Given the description of an element on the screen output the (x, y) to click on. 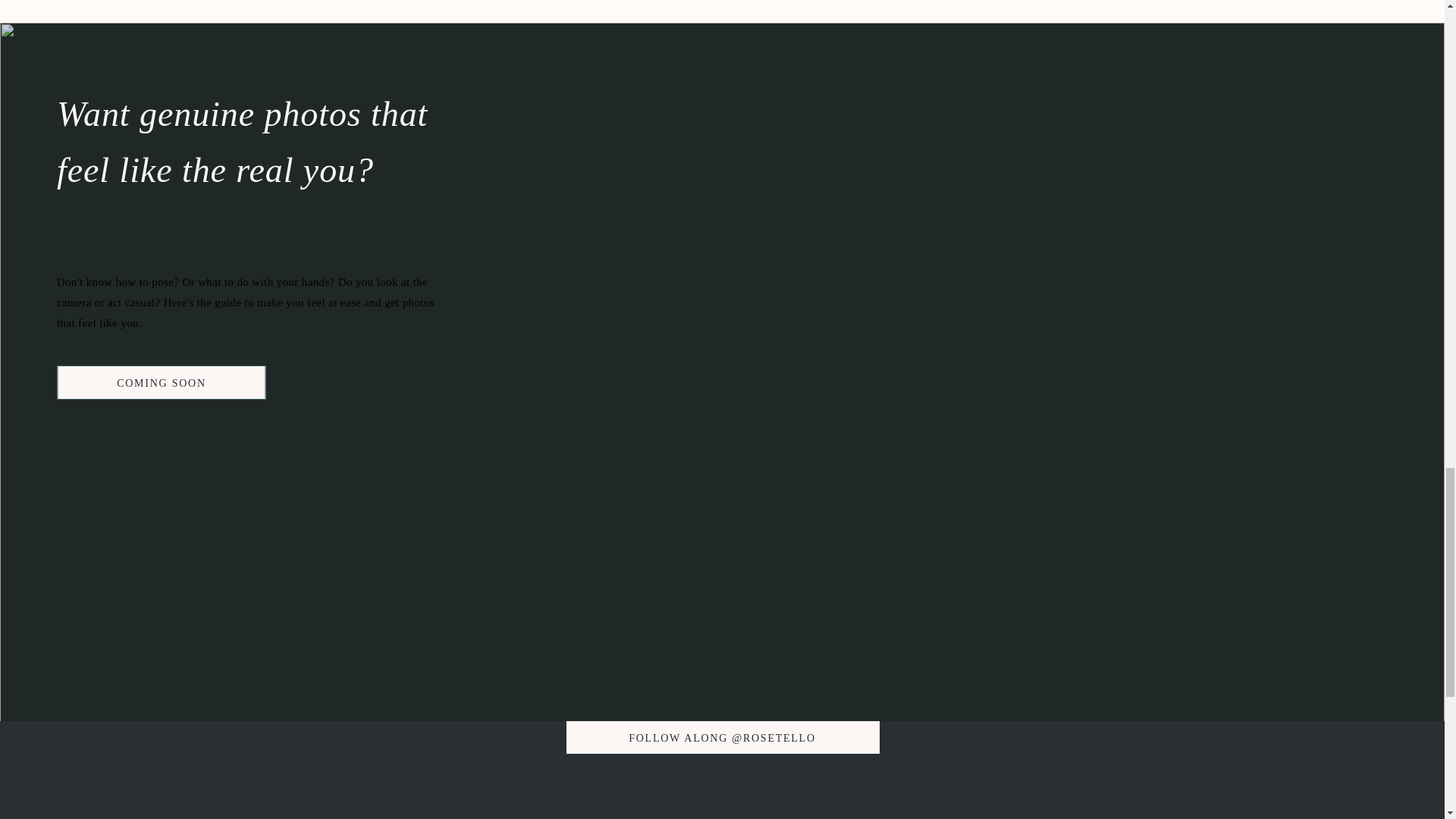
COMING SOON (161, 382)
